Given the description of an element on the screen output the (x, y) to click on. 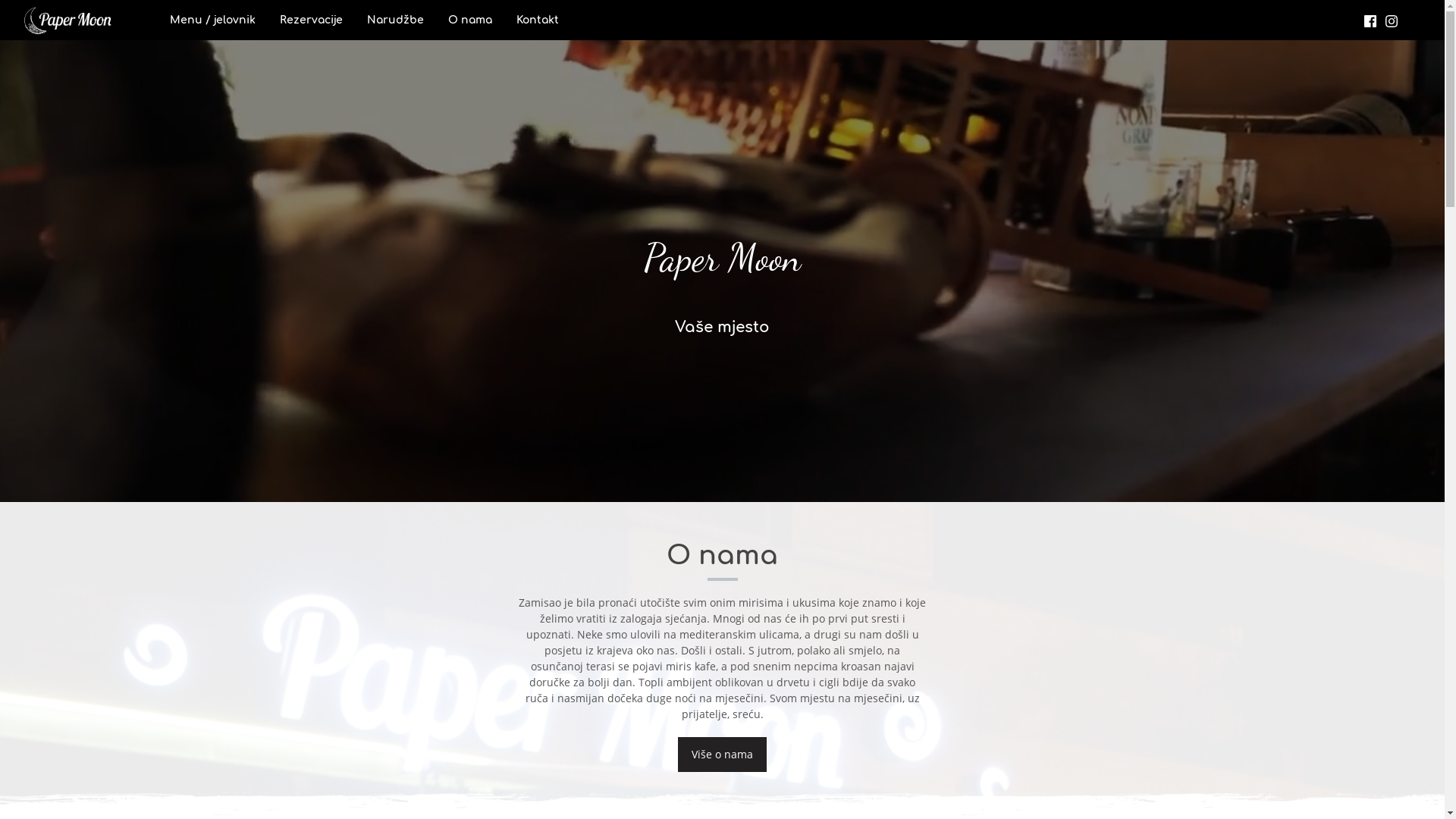
Kontakt Element type: text (537, 20)
Menu / jelovnik Element type: text (212, 20)
Rezervacije Element type: text (310, 20)
O nama Element type: text (470, 20)
